Given the description of an element on the screen output the (x, y) to click on. 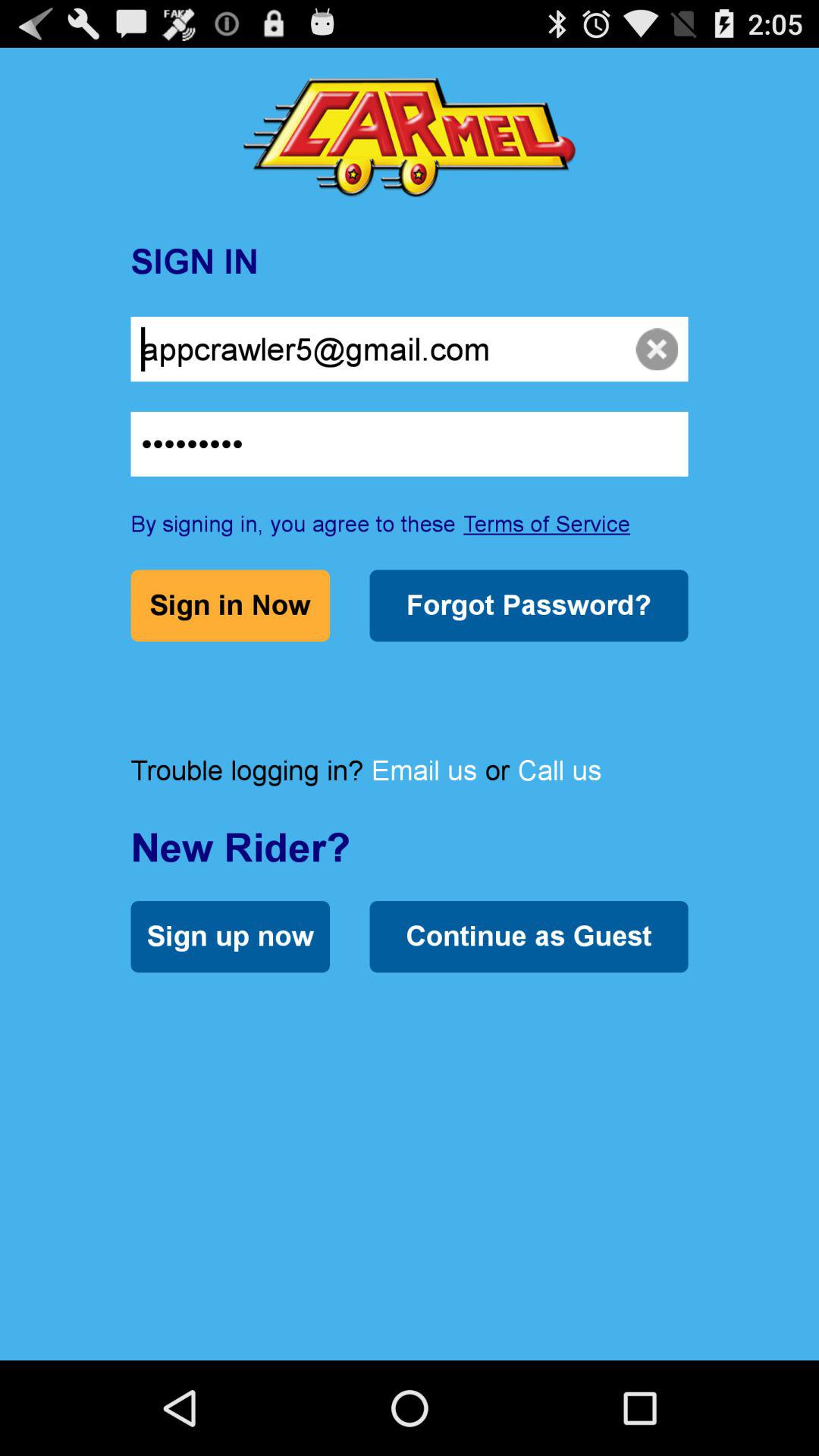
launch email us (424, 770)
